Given the description of an element on the screen output the (x, y) to click on. 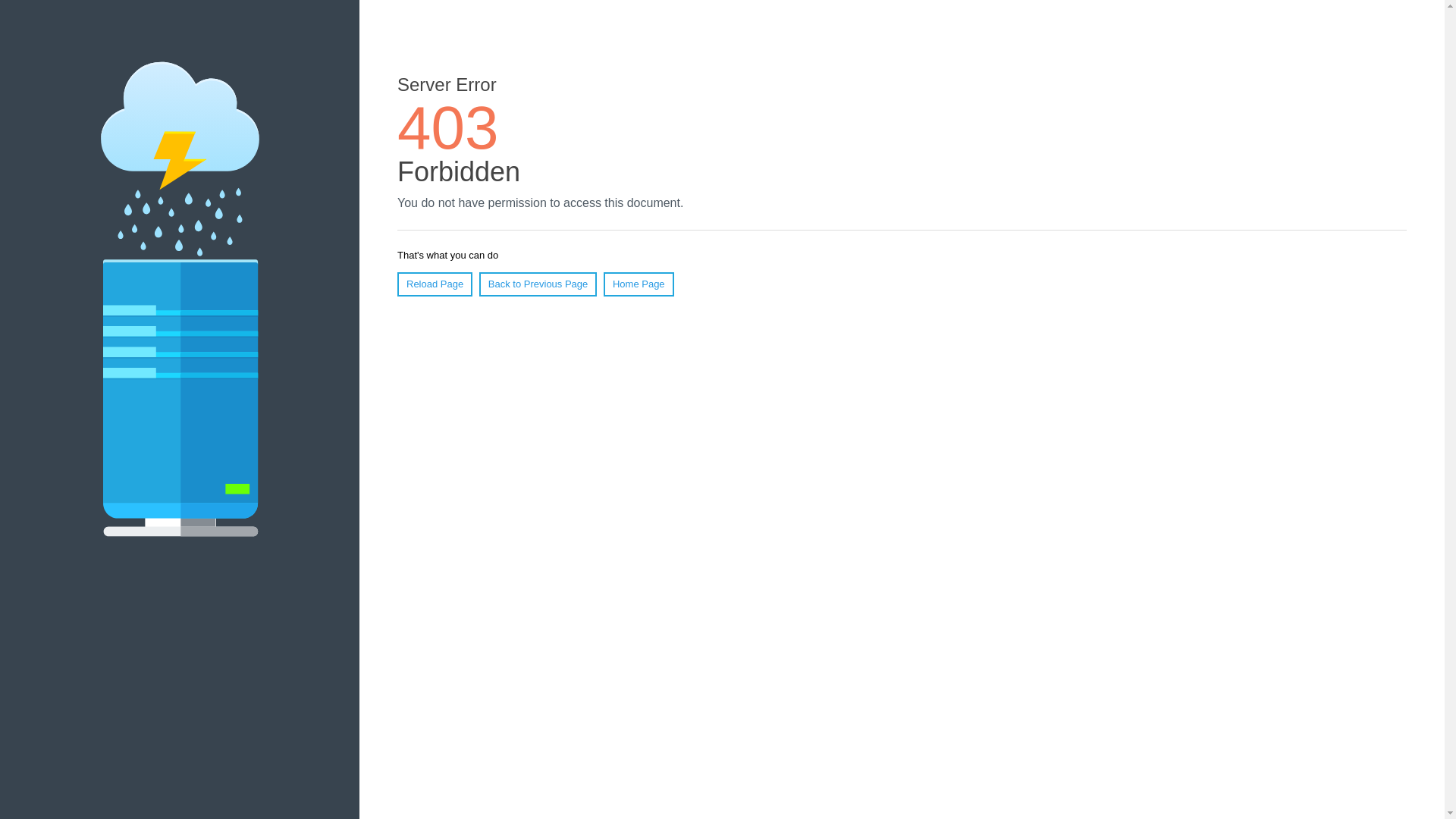
Reload Page Element type: text (434, 284)
Home Page Element type: text (638, 284)
Back to Previous Page Element type: text (538, 284)
